Given the description of an element on the screen output the (x, y) to click on. 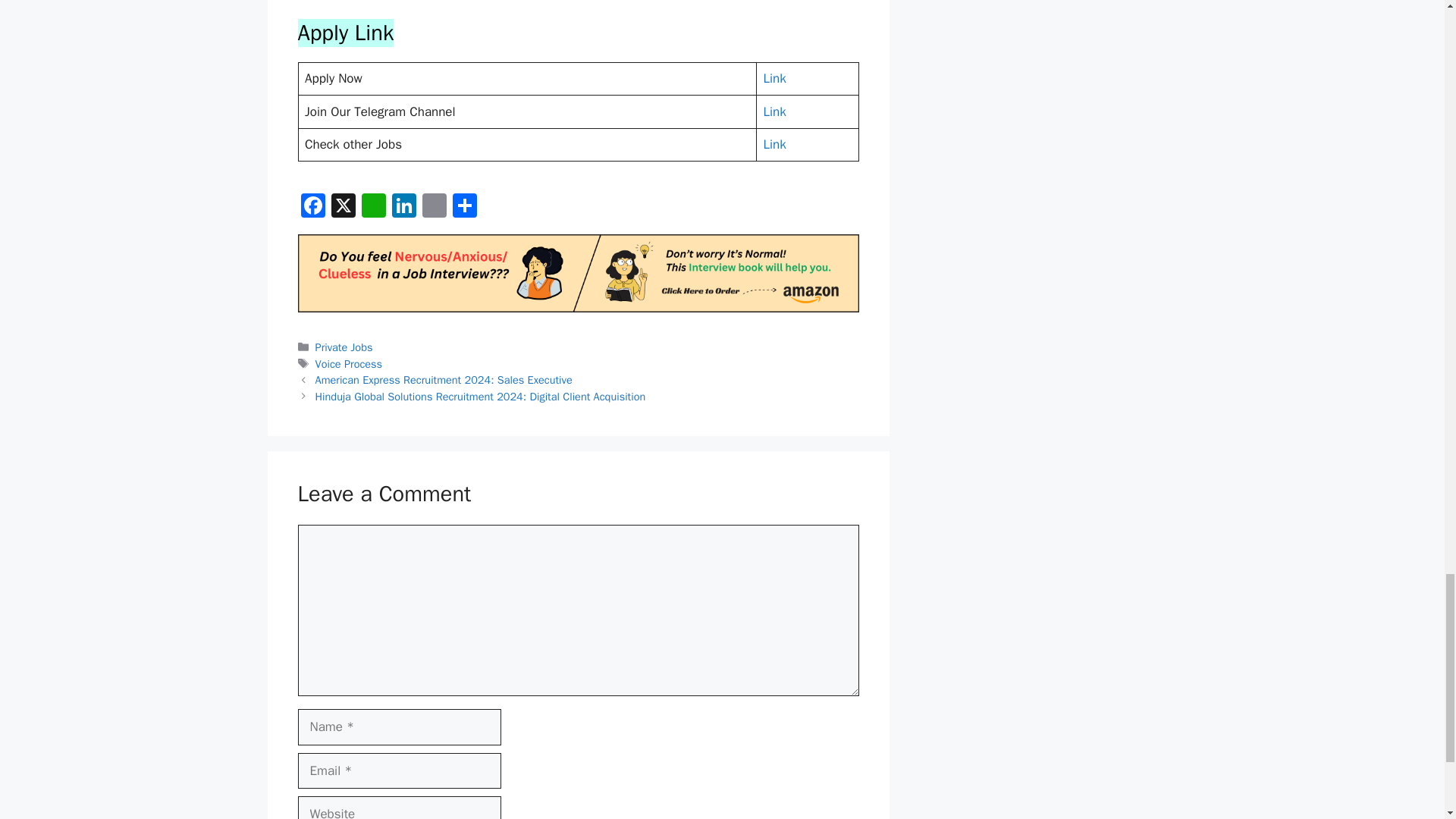
Link (774, 144)
Private Jobs (343, 346)
Link (774, 111)
Facebook (312, 207)
Copy Link (433, 207)
WhatsApp (373, 207)
LinkedIn (403, 207)
X (342, 207)
WhatsApp (373, 207)
Copy Link (433, 207)
